Given the description of an element on the screen output the (x, y) to click on. 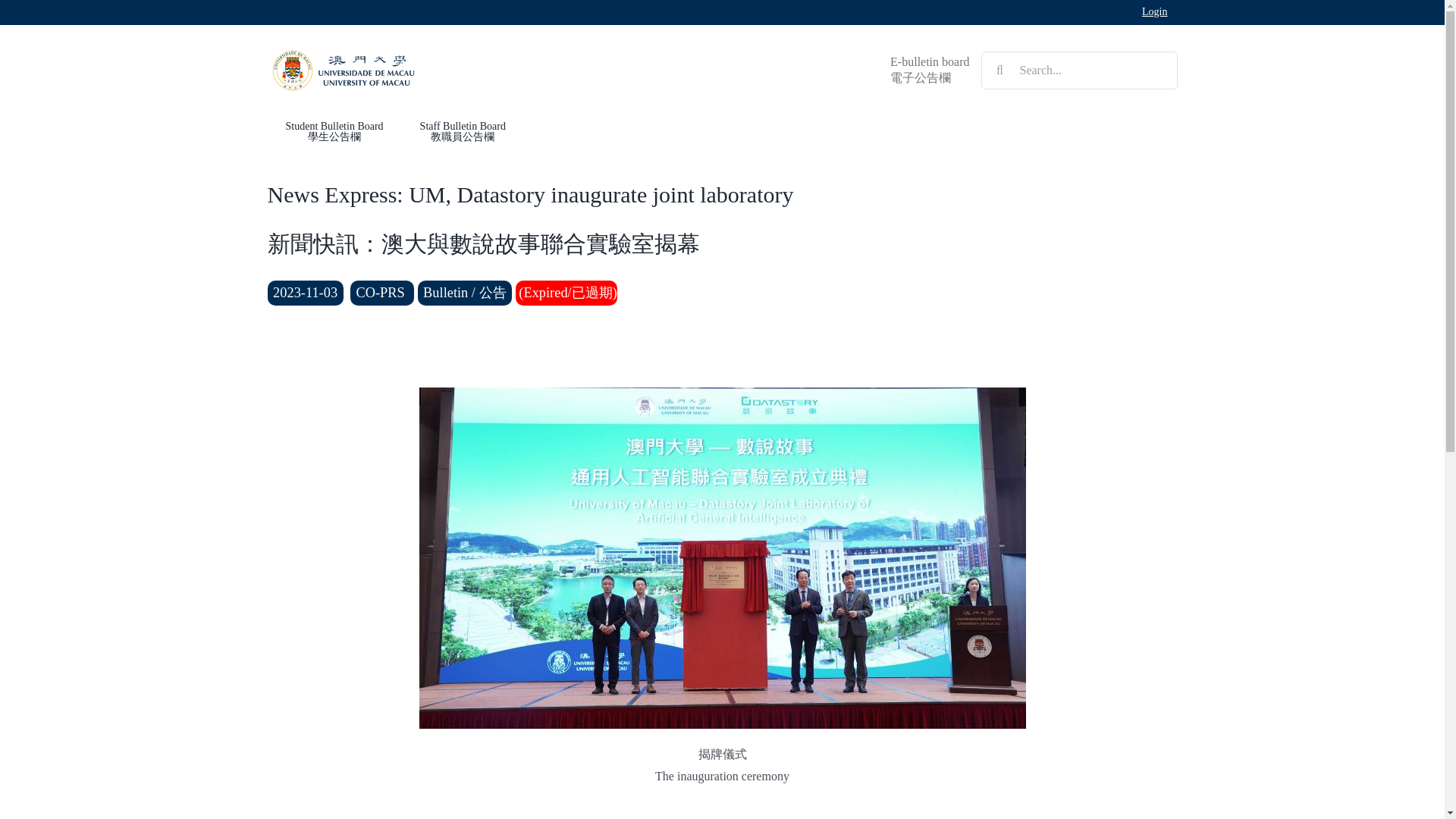
 CO-PRS   (381, 292)
 2023-11-03  (304, 292)
Login (1154, 12)
